Given the description of an element on the screen output the (x, y) to click on. 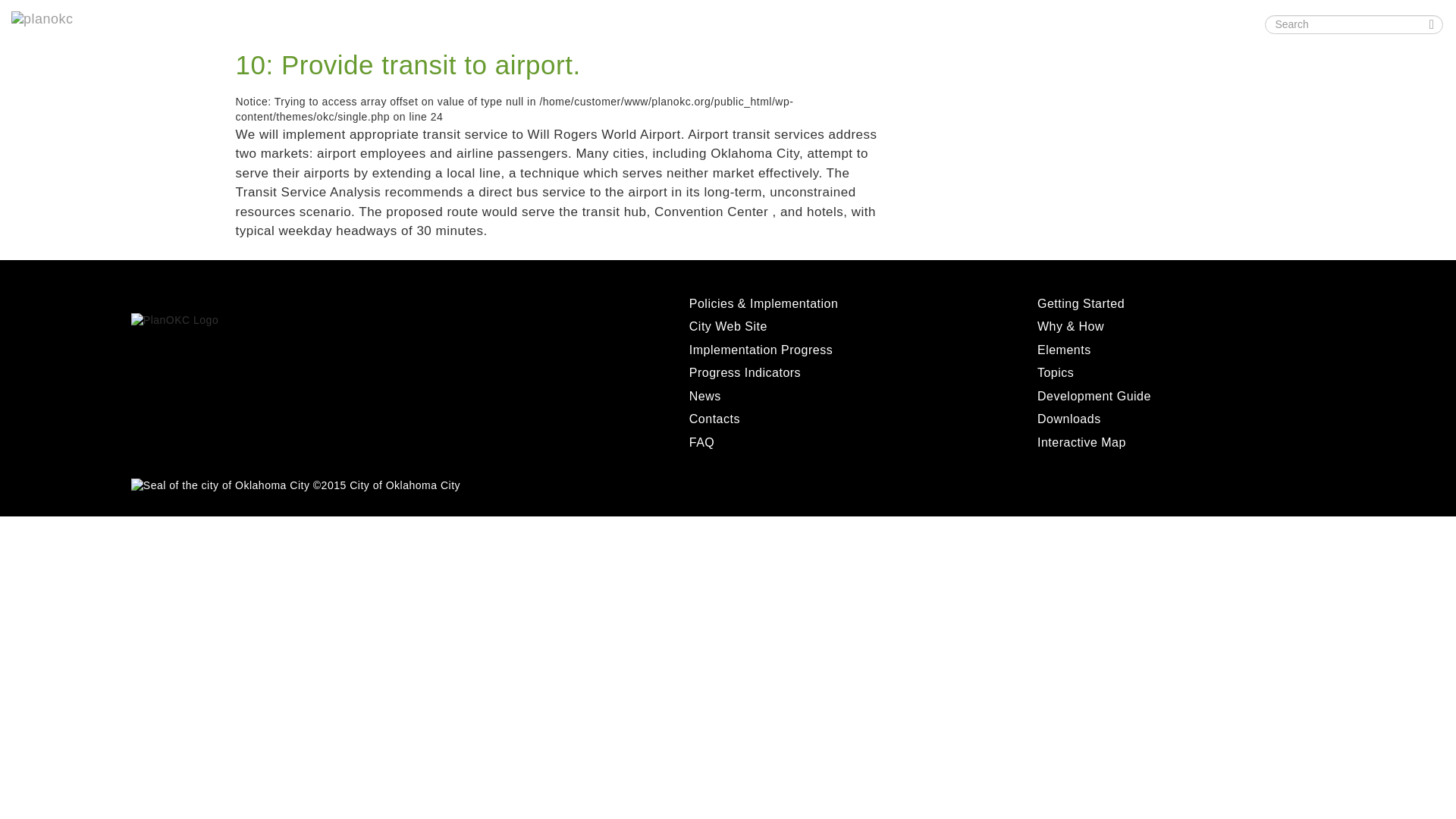
Progress Indicators (744, 372)
Getting Started (428, 22)
Implementation Progress (760, 349)
City Web Site (727, 326)
planokc (64, 18)
Downloads (874, 22)
Interactive Map (965, 22)
10: Provide transit to airport. (406, 64)
Development Guide (770, 22)
News (704, 395)
